Given the description of an element on the screen output the (x, y) to click on. 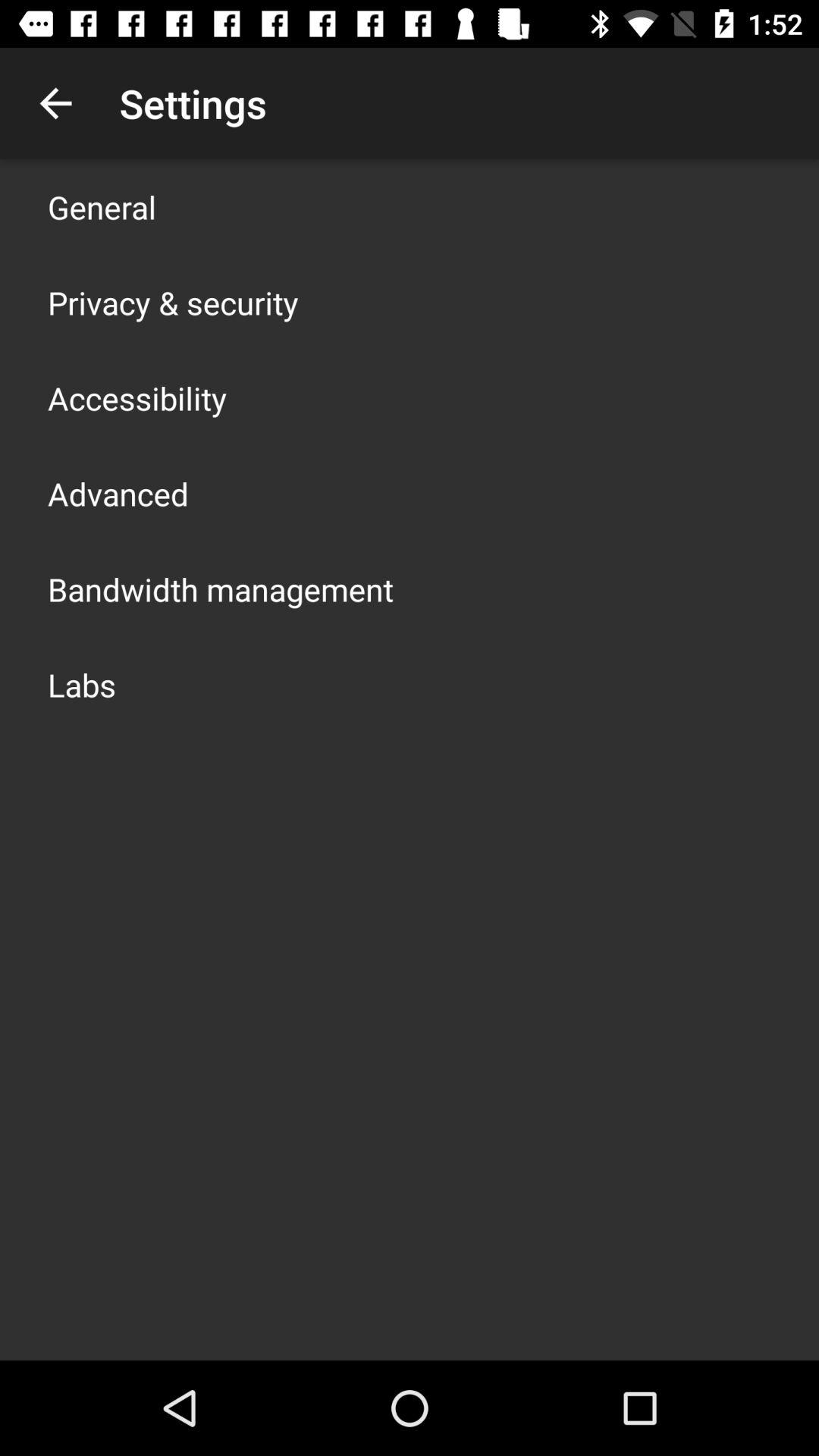
tap the app next to the settings (55, 103)
